Given the description of an element on the screen output the (x, y) to click on. 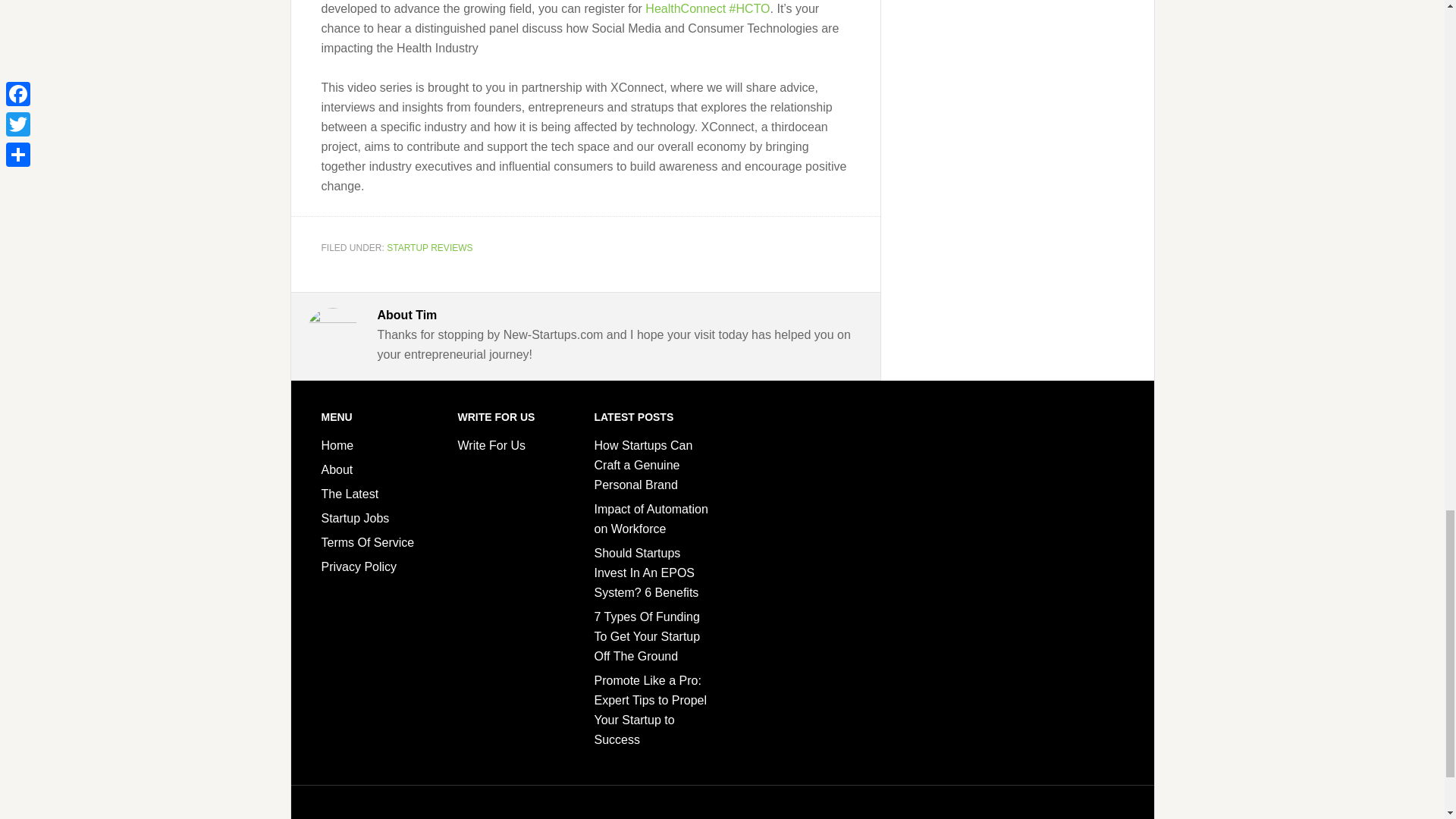
STARTUP REVIEWS (429, 246)
Startup Jobs (355, 517)
The Latest (349, 493)
Terms Of Service (367, 542)
Write For Us (491, 445)
About (337, 469)
Home (337, 445)
Privacy Policy (359, 566)
